Given the description of an element on the screen output the (x, y) to click on. 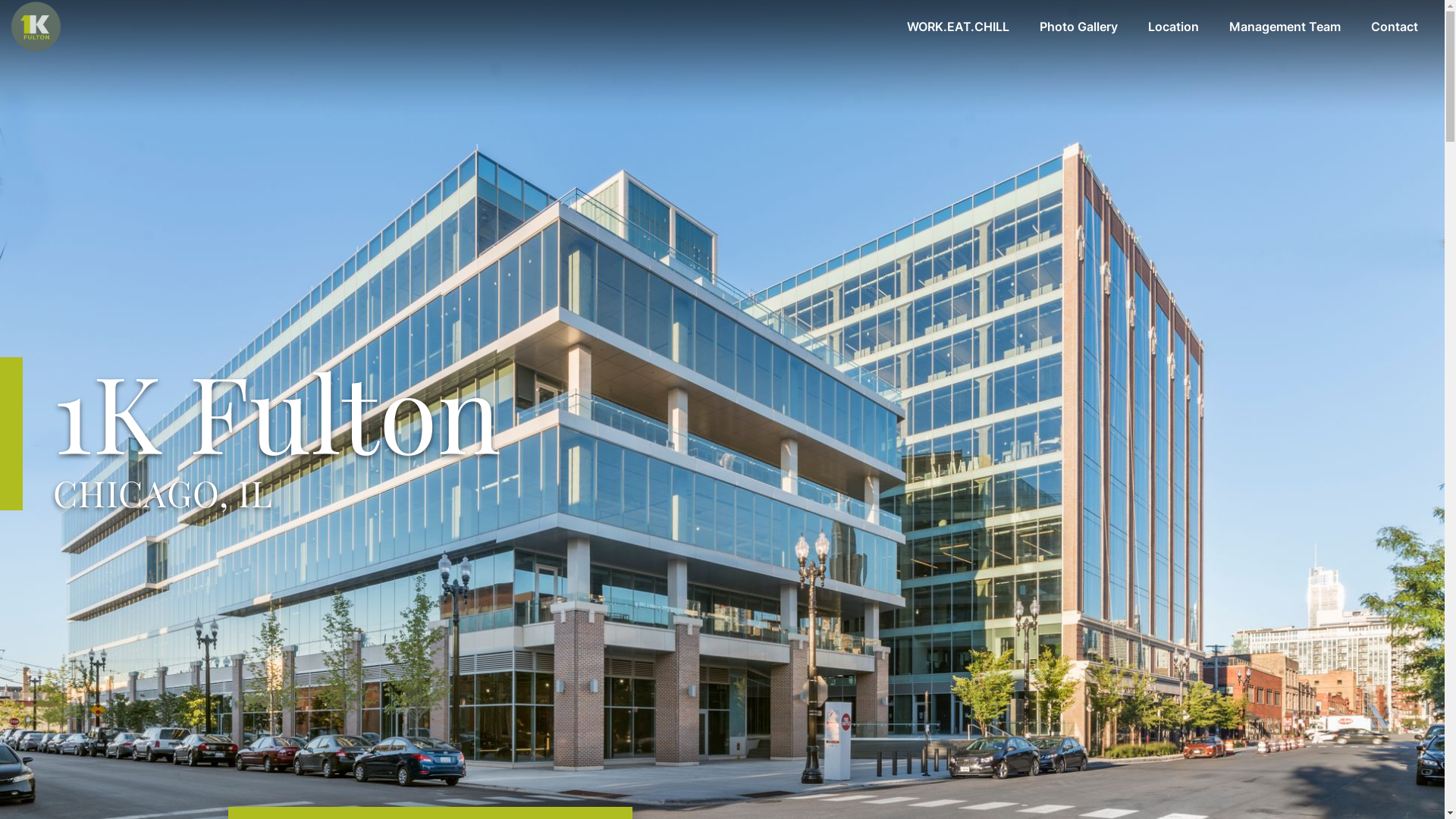
Management Team Element type: text (1284, 26)
Contact Element type: text (1394, 26)
WORK.EAT.CHILL Element type: text (957, 26)
Location Element type: text (1173, 26)
Photo Gallery Element type: text (1078, 26)
